Given the description of an element on the screen output the (x, y) to click on. 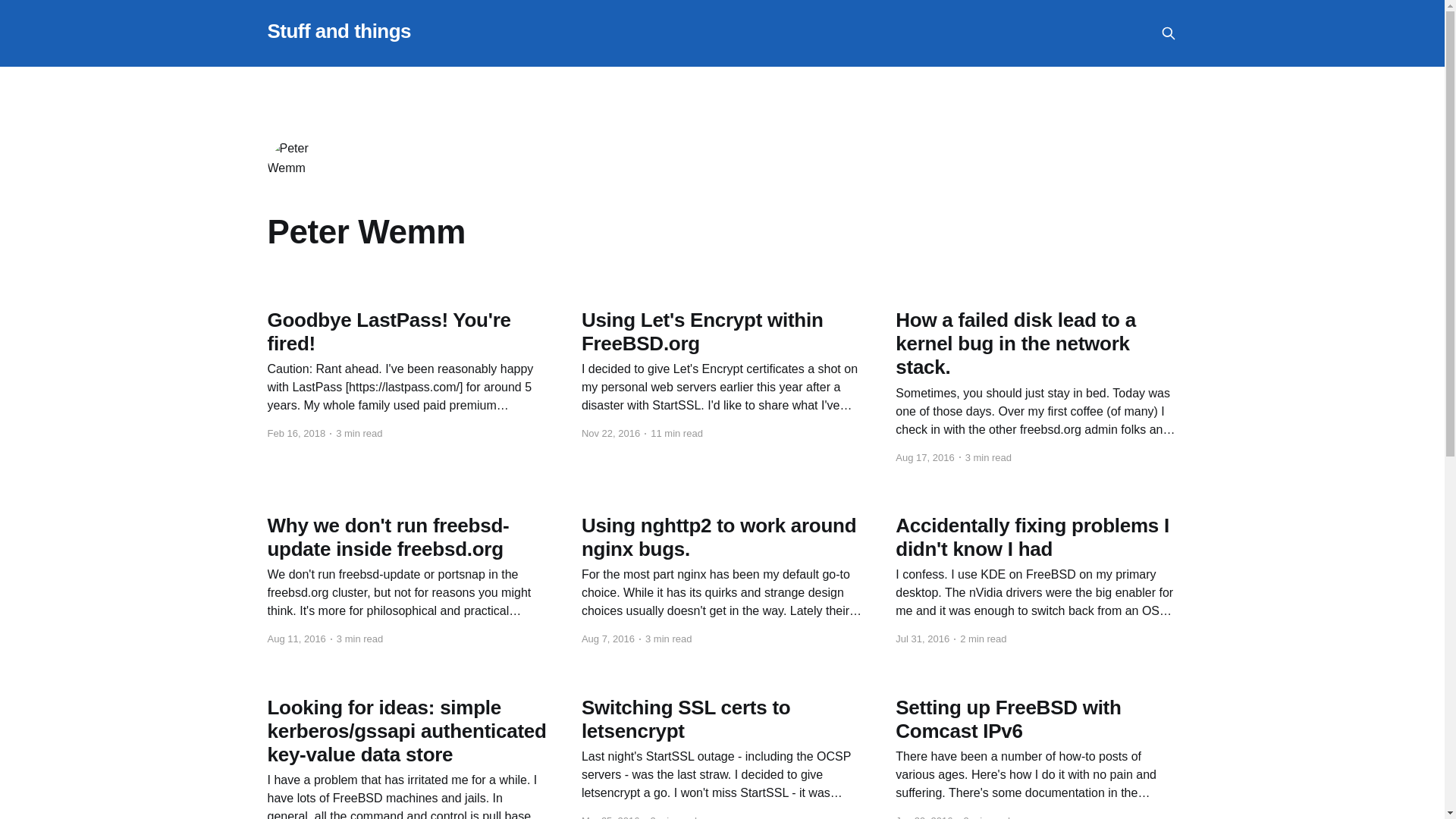
Stuff and things (338, 31)
